Given the description of an element on the screen output the (x, y) to click on. 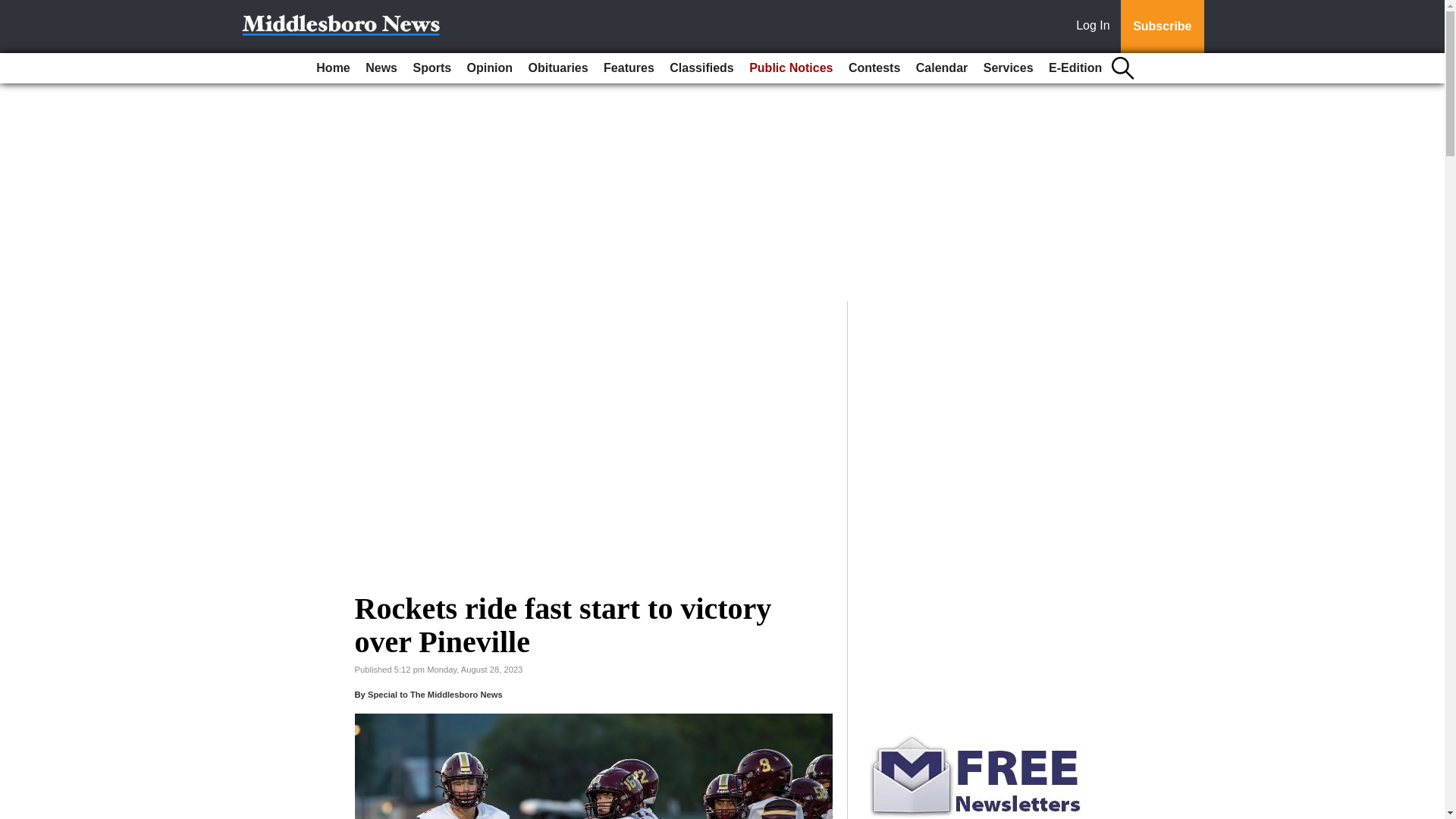
Log In (1095, 26)
E-Edition (1075, 68)
Services (1007, 68)
Classifieds (701, 68)
Home (332, 68)
Calendar (942, 68)
Sports (431, 68)
Opinion (489, 68)
Public Notices (790, 68)
Obituaries (557, 68)
Contests (874, 68)
Go (13, 9)
Special to The Middlesboro News (435, 694)
News (381, 68)
Features (628, 68)
